Given the description of an element on the screen output the (x, y) to click on. 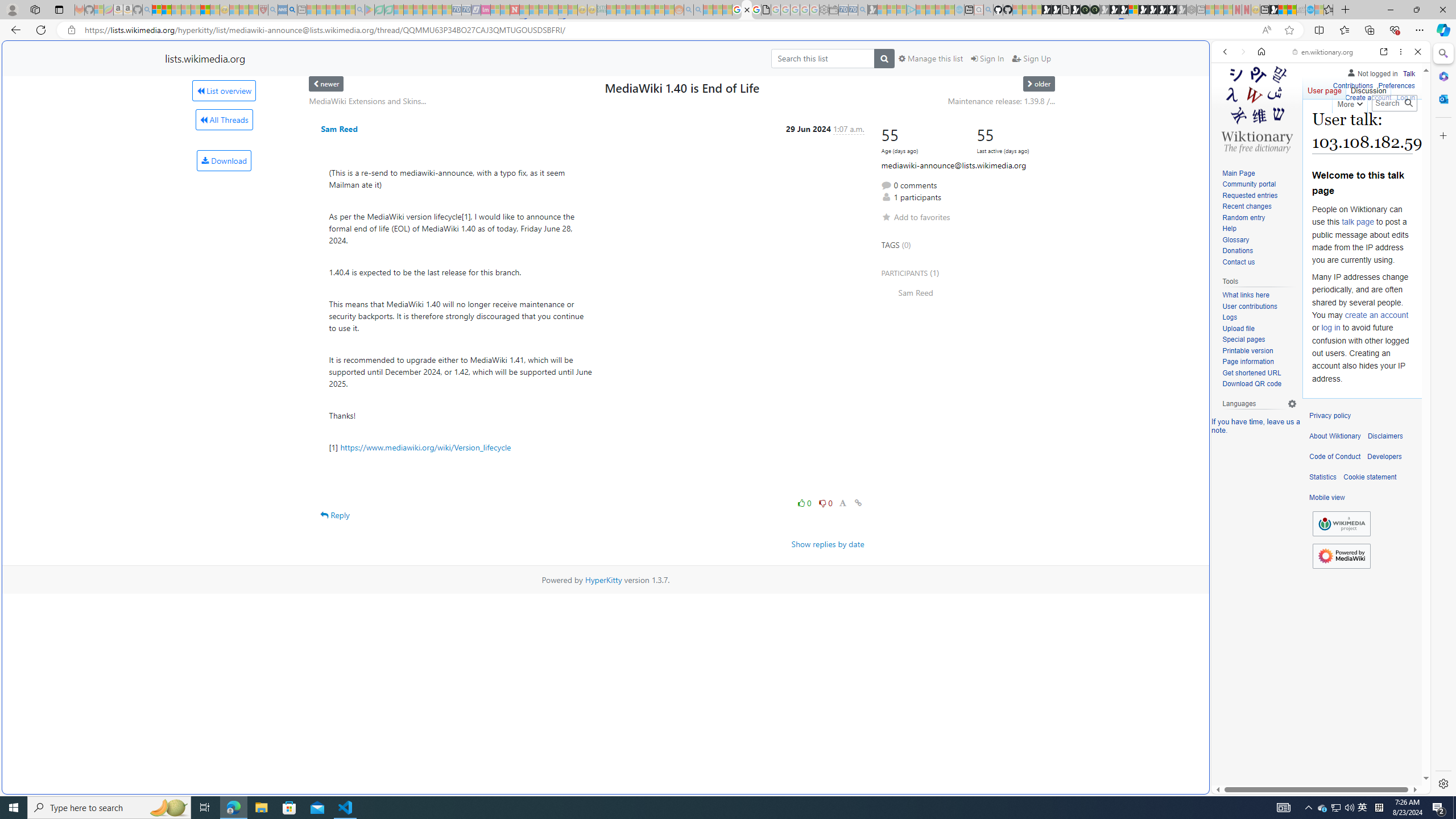
Requested entries (1249, 194)
HyperKitty (603, 579)
Statistics (1322, 477)
AutomationID: footer-poweredbyico (1341, 555)
Microsoft-Report a Concern to Bing - Sleeping (98, 9)
Play Cave FRVR in your browser | Games from Microsoft Start (922, 242)
lists.wikimedia.org (204, 58)
